Given the description of an element on the screen output the (x, y) to click on. 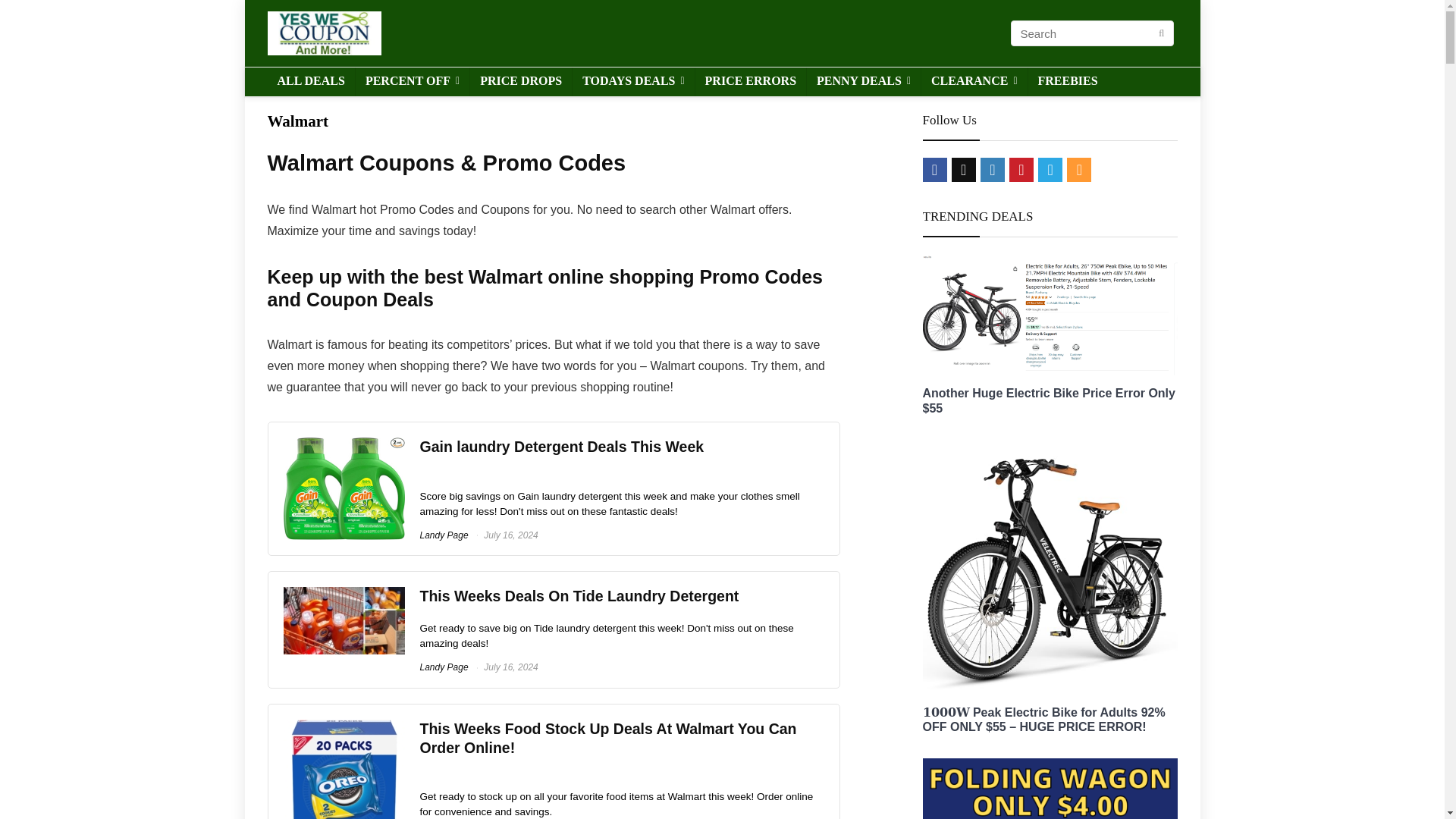
PERCENT OFF (411, 81)
FREEBIES (1067, 81)
ALL DEALS (309, 81)
CLEARANCE (973, 81)
TODAYS DEALS (633, 81)
PENNY DEALS (863, 81)
PRICE ERRORS (750, 81)
PRICE DROPS (521, 81)
